Given the description of an element on the screen output the (x, y) to click on. 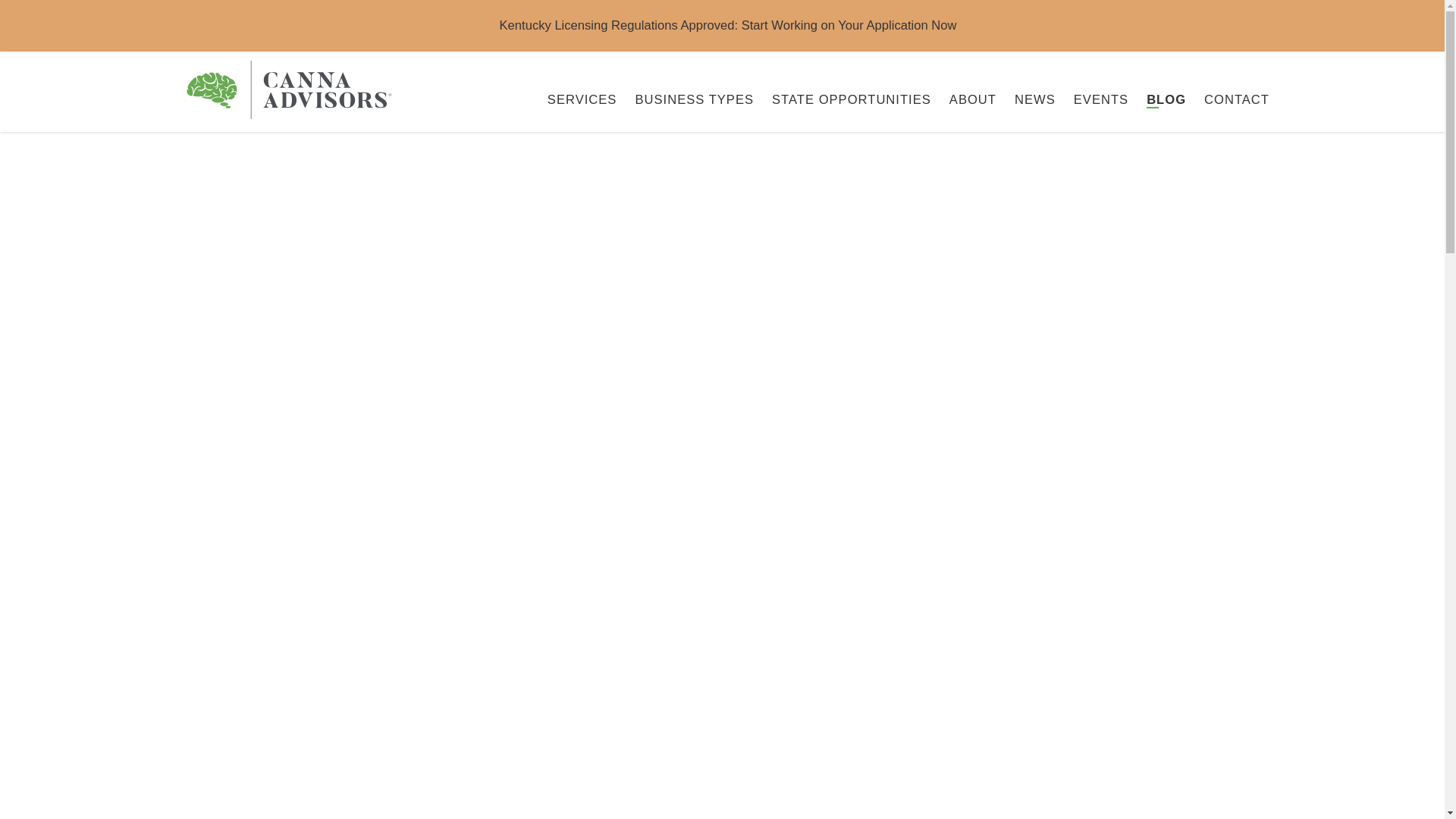
STATE OPPORTUNITIES (842, 100)
SERVICES (573, 100)
BUSINESS TYPES (684, 100)
